Given the description of an element on the screen output the (x, y) to click on. 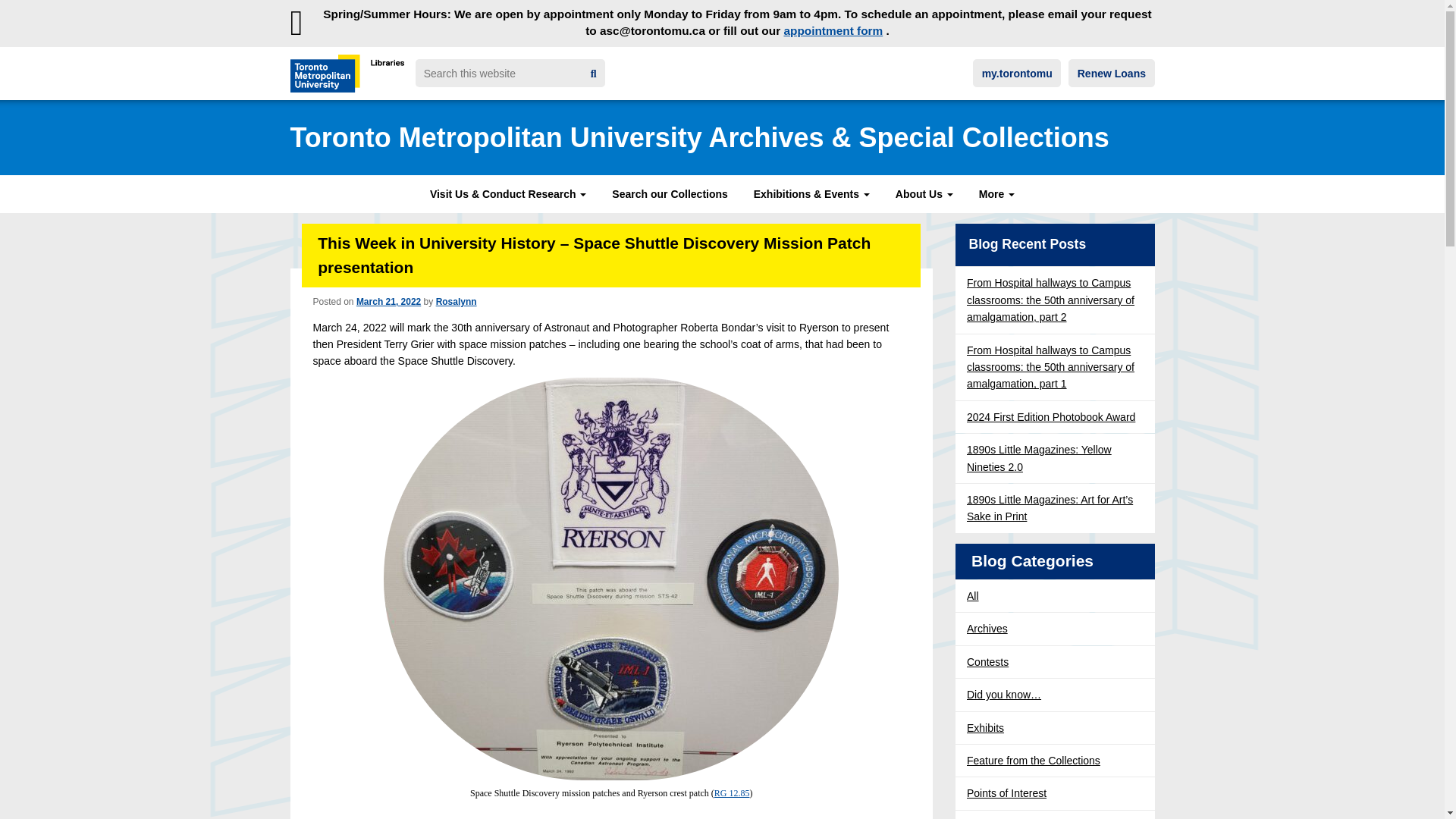
Search our Collections (668, 193)
my.torontomu (1016, 72)
Search our Collections (668, 193)
Search (593, 73)
More (997, 193)
About Us (923, 193)
Renew Loans (1111, 72)
Skip to main menu (53, 12)
Rosalynn (456, 301)
RG 12.85 (731, 792)
About Us (923, 193)
appointment form (832, 30)
March 21, 2022 (388, 301)
Skip to content (45, 12)
